Given the description of an element on the screen output the (x, y) to click on. 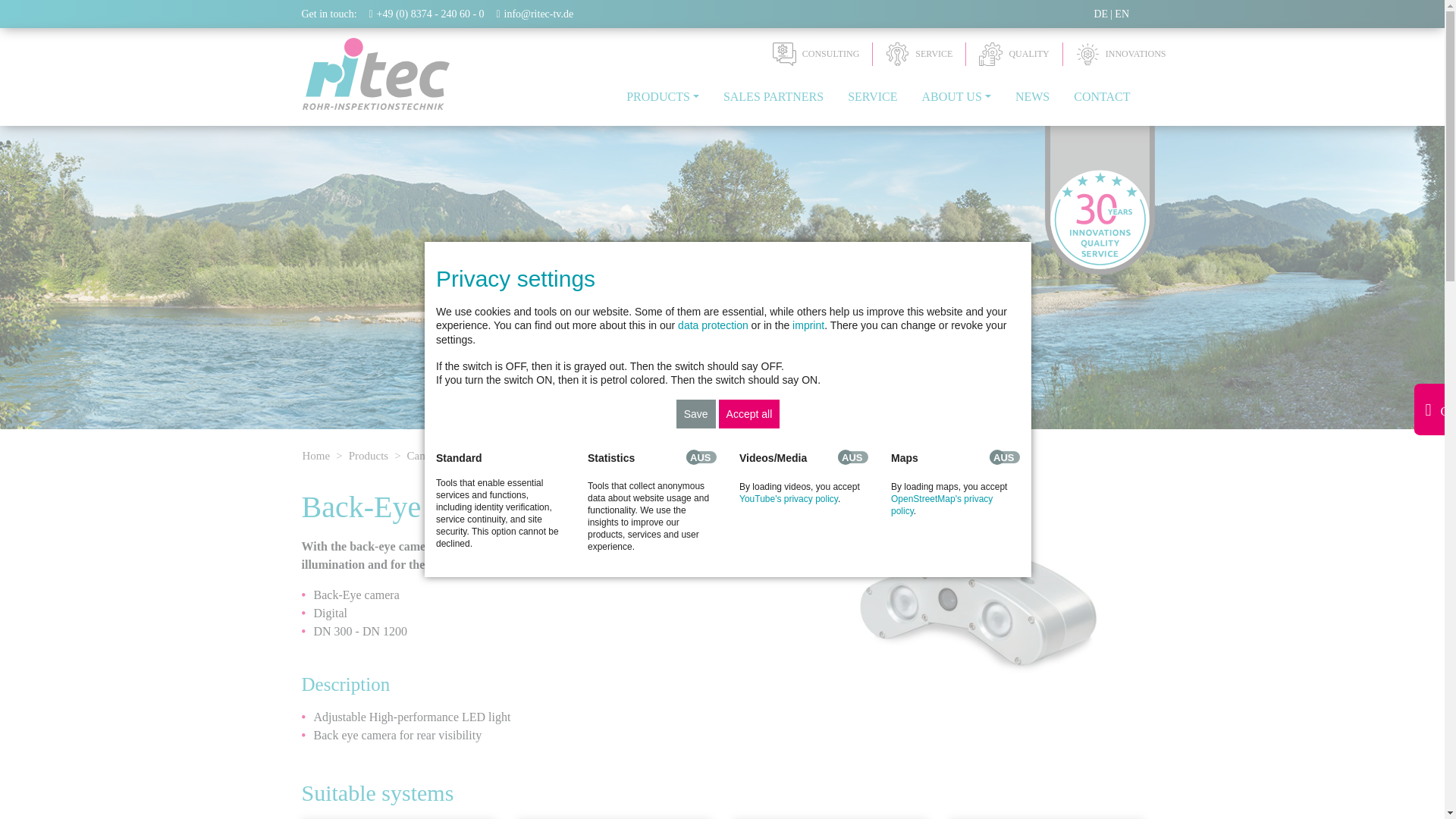
Kamera Details (1100, 13)
News (1032, 96)
SALES PARTNERS (773, 96)
SERVICE (918, 54)
QUALITY (1013, 54)
Sales Partners (773, 96)
Products (368, 455)
Products (662, 96)
ABOUT US (956, 96)
Service (871, 96)
Cameras (426, 455)
Home (315, 455)
CONSULTING (816, 54)
DE (1100, 13)
CONTACT (1101, 96)
